Given the description of an element on the screen output the (x, y) to click on. 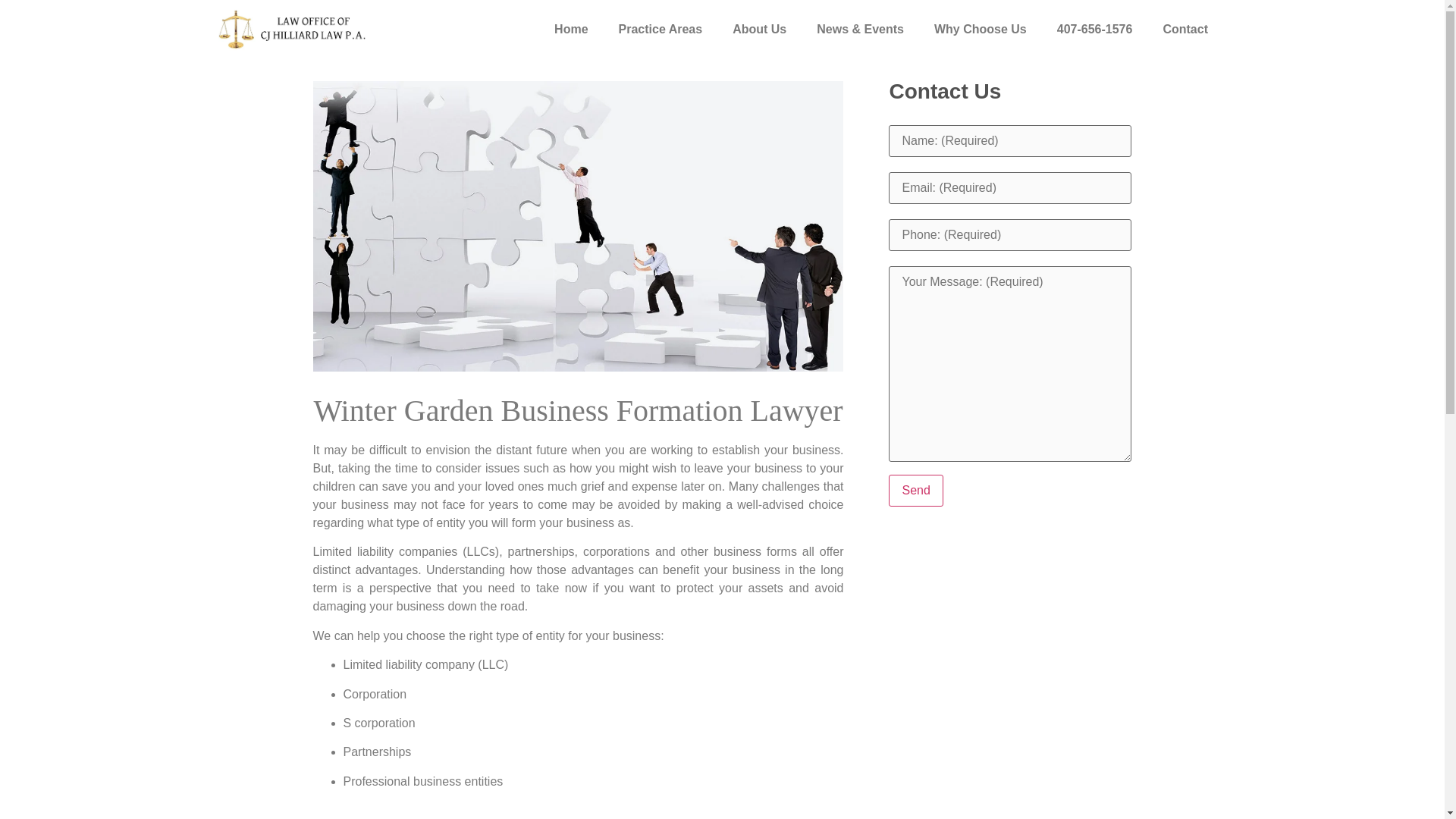
407-656-1576 (1095, 29)
Practice Areas (660, 29)
Home (570, 29)
About Us (759, 29)
Why Choose Us (980, 29)
Contact (1185, 29)
